Given the description of an element on the screen output the (x, y) to click on. 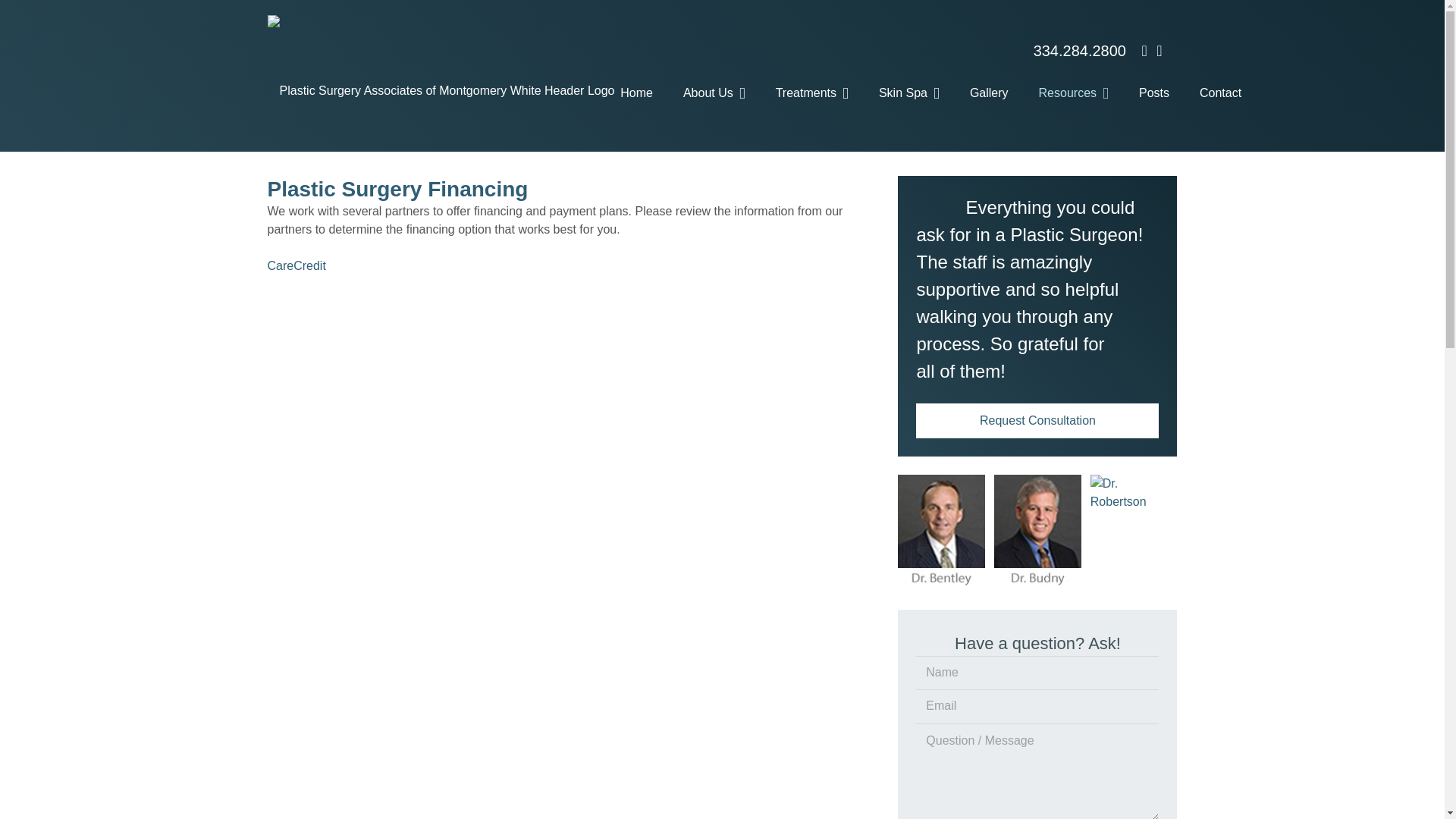
Skin Spa (909, 93)
instagram (1158, 50)
Home (636, 93)
Facebook (1144, 50)
Treatments (811, 93)
About Us (714, 93)
instagram (1158, 50)
334.284.2800 (1079, 50)
Facebook (1144, 50)
